Given the description of an element on the screen output the (x, y) to click on. 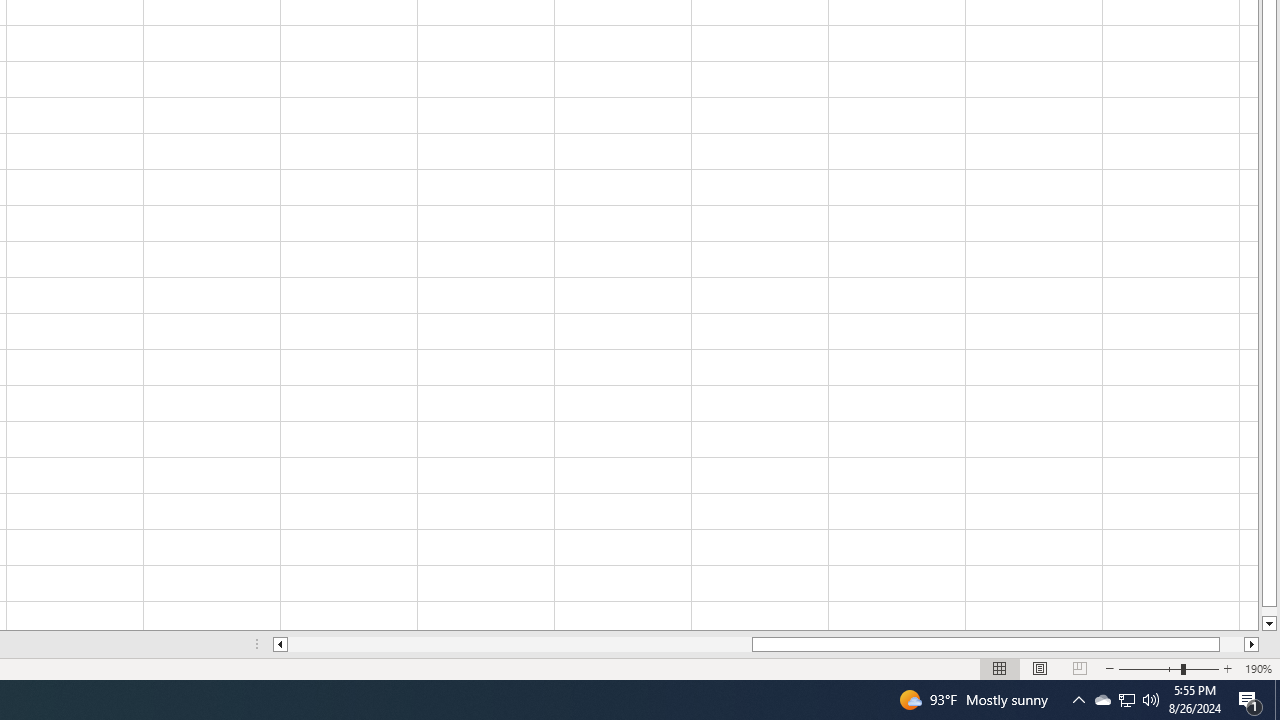
Page left (520, 644)
